Given the description of an element on the screen output the (x, y) to click on. 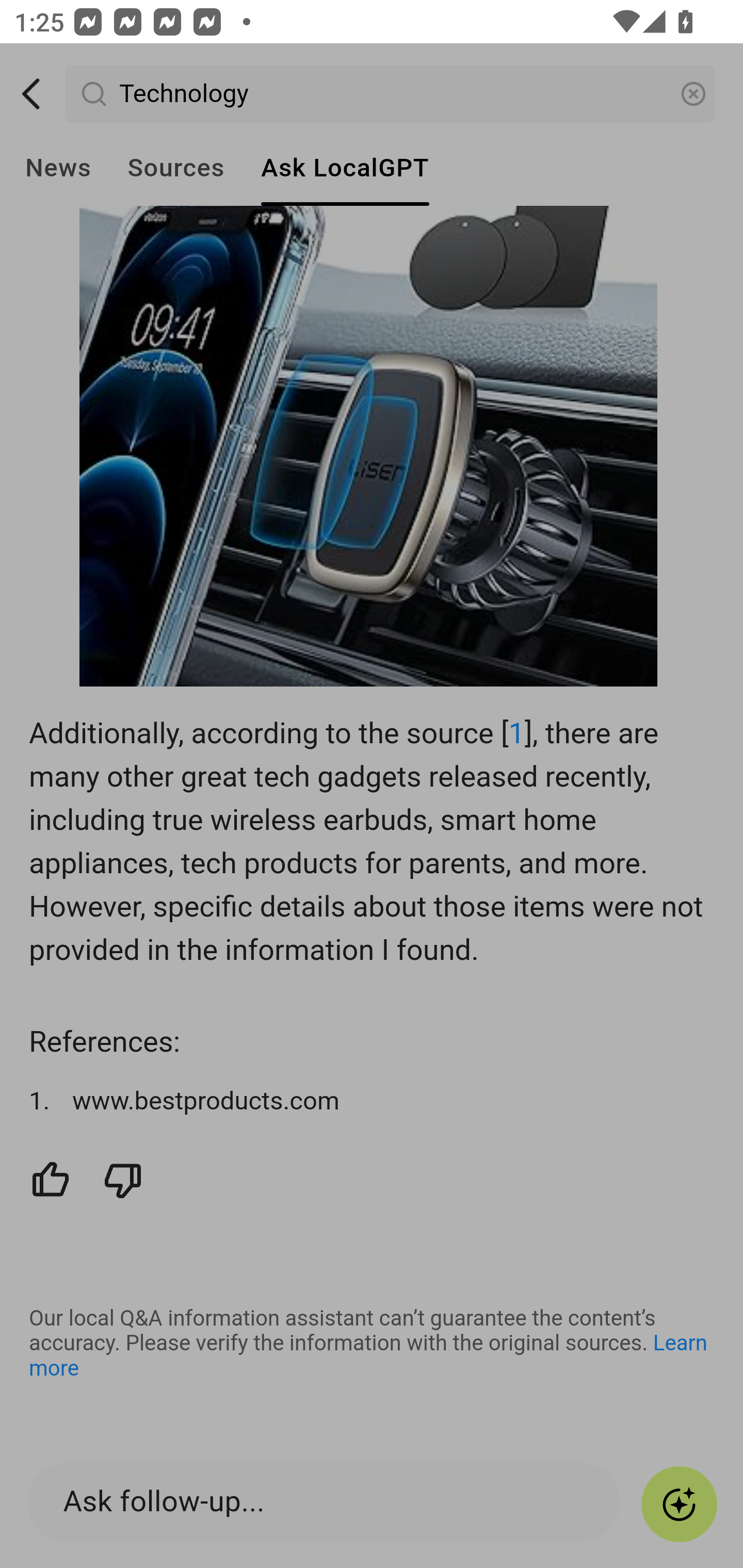
Technology (390, 93)
News (58, 168)
Sources (175, 168)
Ask LocalGPT (344, 168)
LISEN Magnetic Phone Holder for Car (369, 437)
1 (516, 734)
1. www.bestproducts.com 1. www.bestproducts.com (372, 1102)
